Given the description of an element on the screen output the (x, y) to click on. 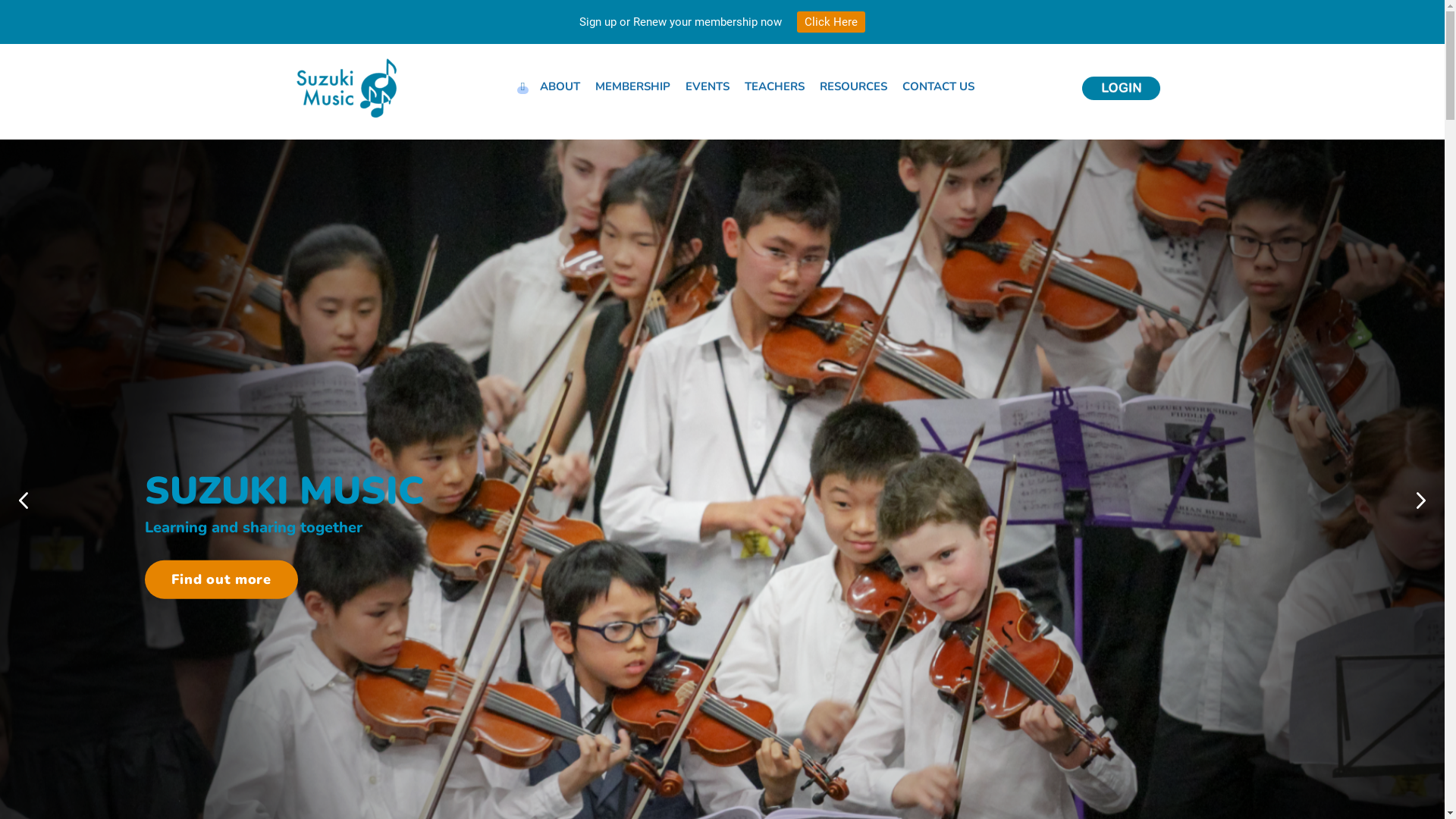
RESOURCES Element type: text (853, 86)
MEMBERSHIP Element type: text (632, 86)
TEACHERS Element type: text (774, 86)
ABOUT Element type: text (559, 86)
Find out more Element type: text (220, 578)
EVENTS Element type: text (707, 86)
CONTACT US Element type: text (938, 86)
Click Here Element type: text (831, 21)
